Given the description of an element on the screen output the (x, y) to click on. 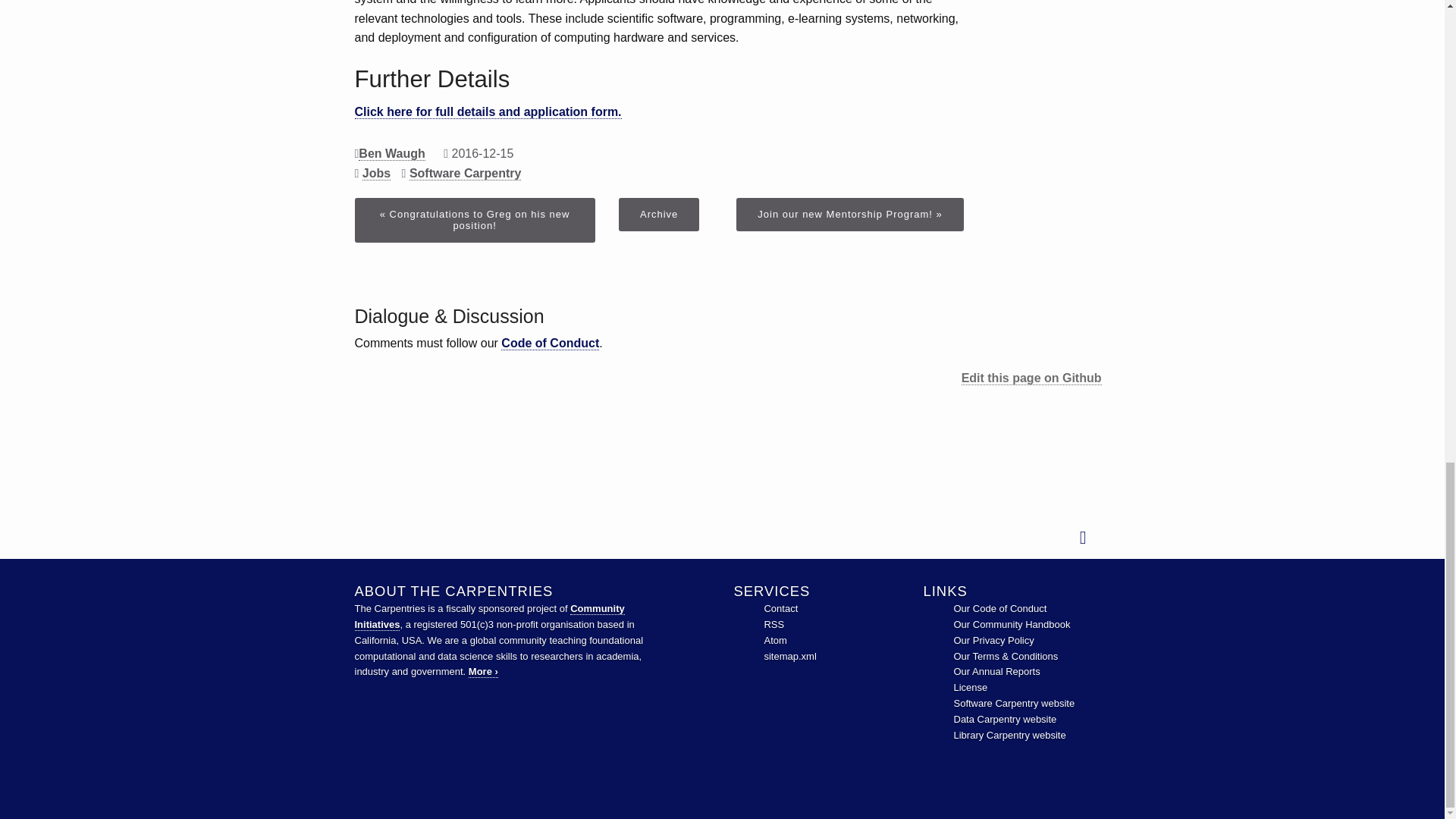
Sitemap for Google Webmaster Tools (788, 655)
Community Handbook (1011, 624)
Subscribe to RSS Feed (773, 624)
Data Carpentry (1005, 718)
Software Carpentry (1014, 703)
Contact (779, 608)
Privacy Policy (993, 640)
License (970, 686)
Blog Archive (658, 214)
Subscribe to Atom Feed (774, 640)
Library Carpentry (1009, 735)
Terms and Conditions (1005, 655)
Code of Conduct (999, 608)
Our Reports (997, 671)
